Given the description of an element on the screen output the (x, y) to click on. 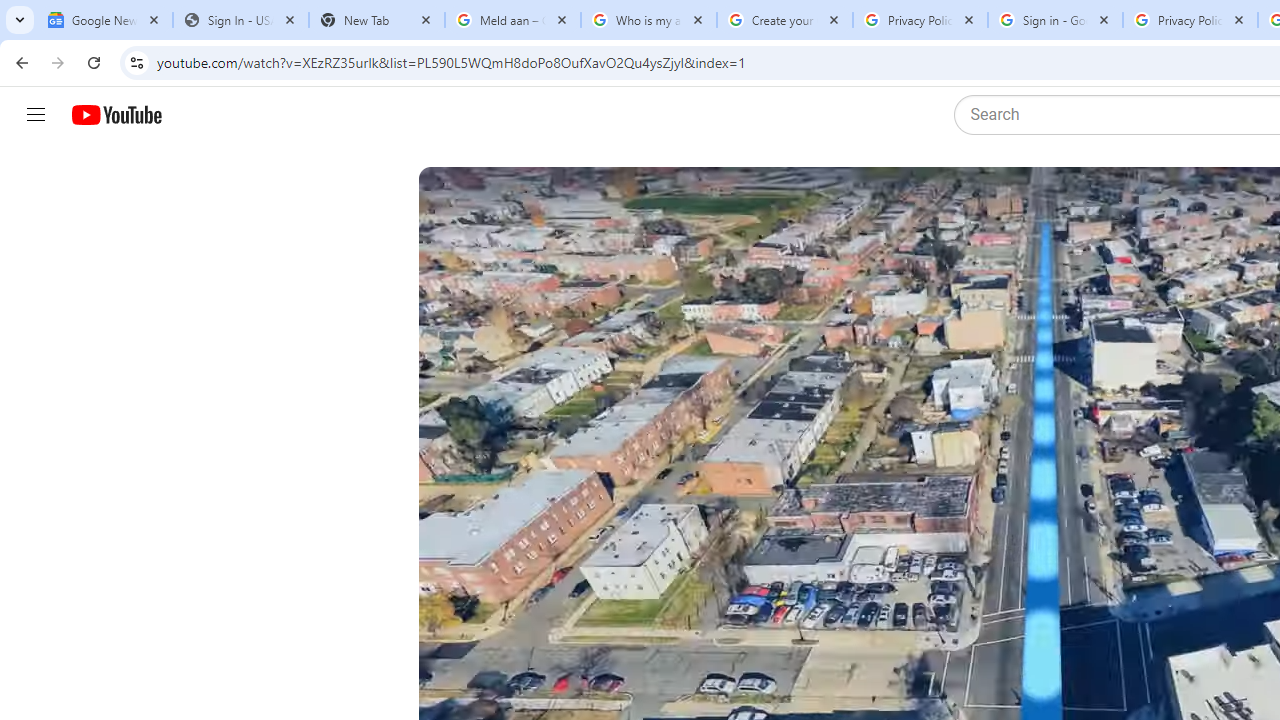
Create your Google Account (784, 20)
